Given the description of an element on the screen output the (x, y) to click on. 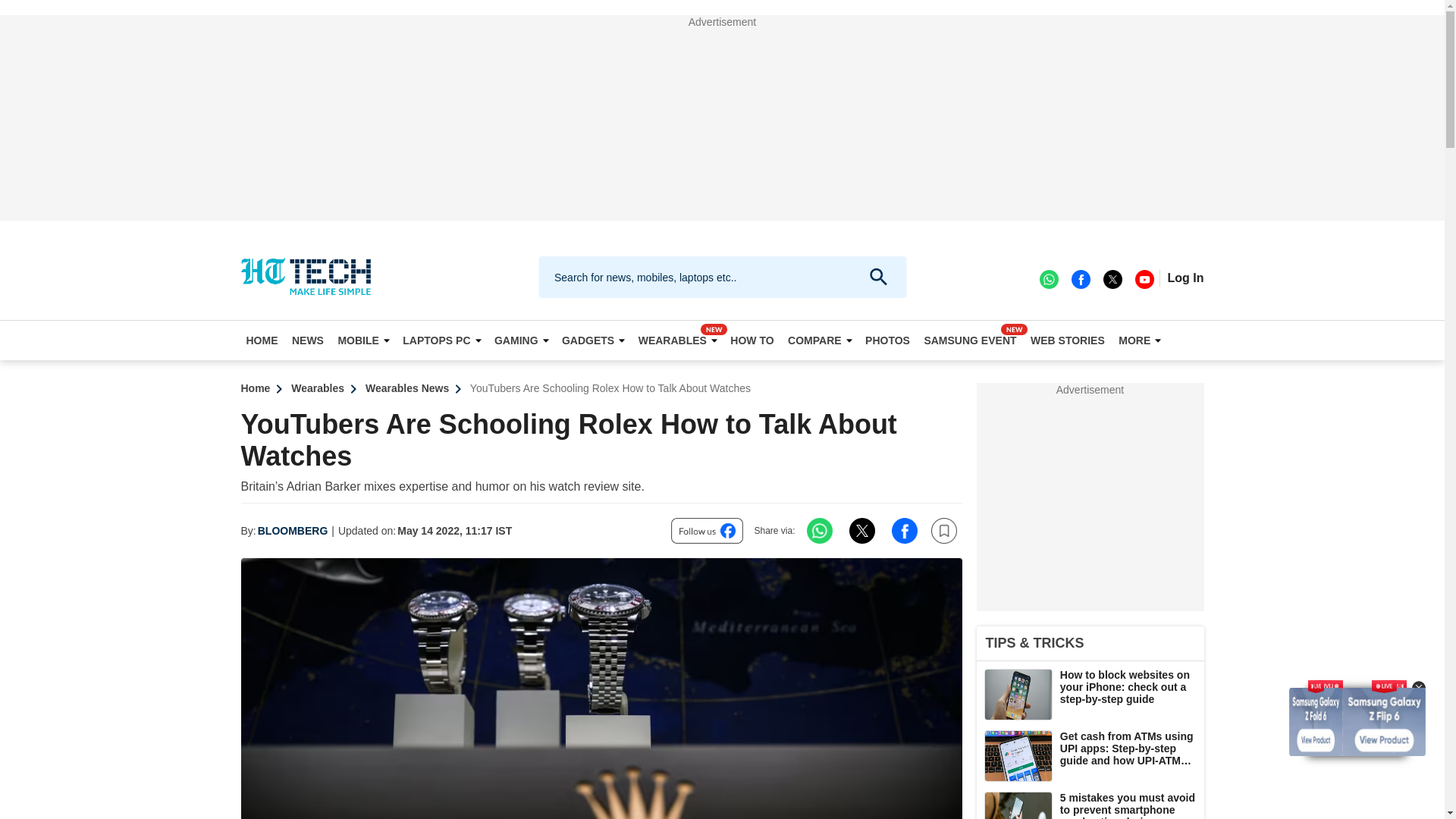
HOW TO (751, 340)
GAMING (521, 340)
WhatsApp channel (1048, 278)
WEARABLES (677, 340)
LAPTOPS PC (440, 340)
HOME (262, 340)
facebook (1079, 278)
Get to know more about News from India and around the world. (307, 340)
Login (1185, 277)
COMPARE (820, 340)
MOBILE (362, 340)
NEWS (307, 340)
